Given the description of an element on the screen output the (x, y) to click on. 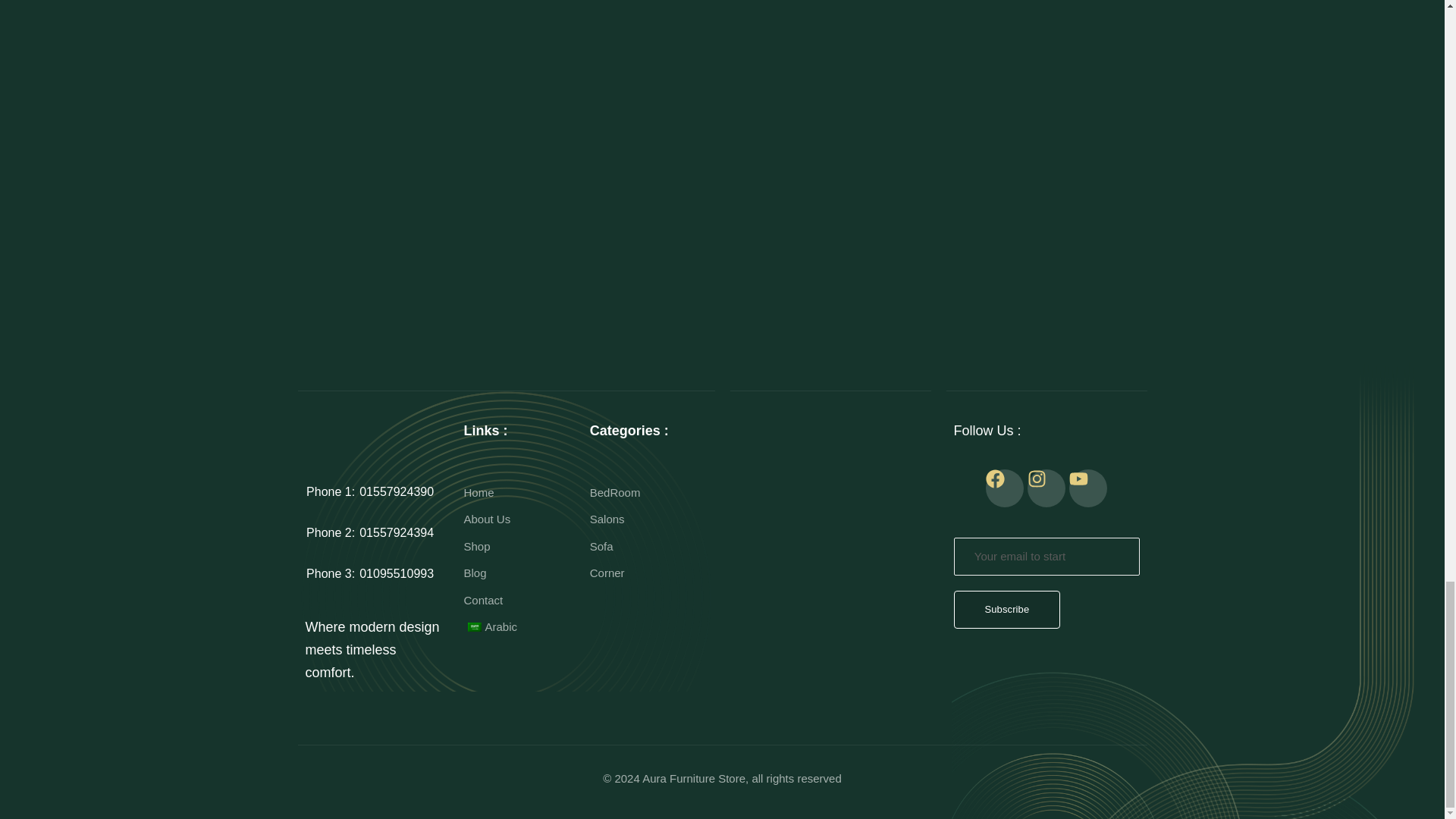
BedRoom (368, 491)
Salons (647, 492)
Corner (647, 519)
Contact (647, 573)
About Us (368, 532)
Arabic (519, 600)
Sofa (519, 519)
Arabic (473, 626)
Blog (368, 573)
Home (647, 546)
Shop (519, 627)
